Given the description of an element on the screen output the (x, y) to click on. 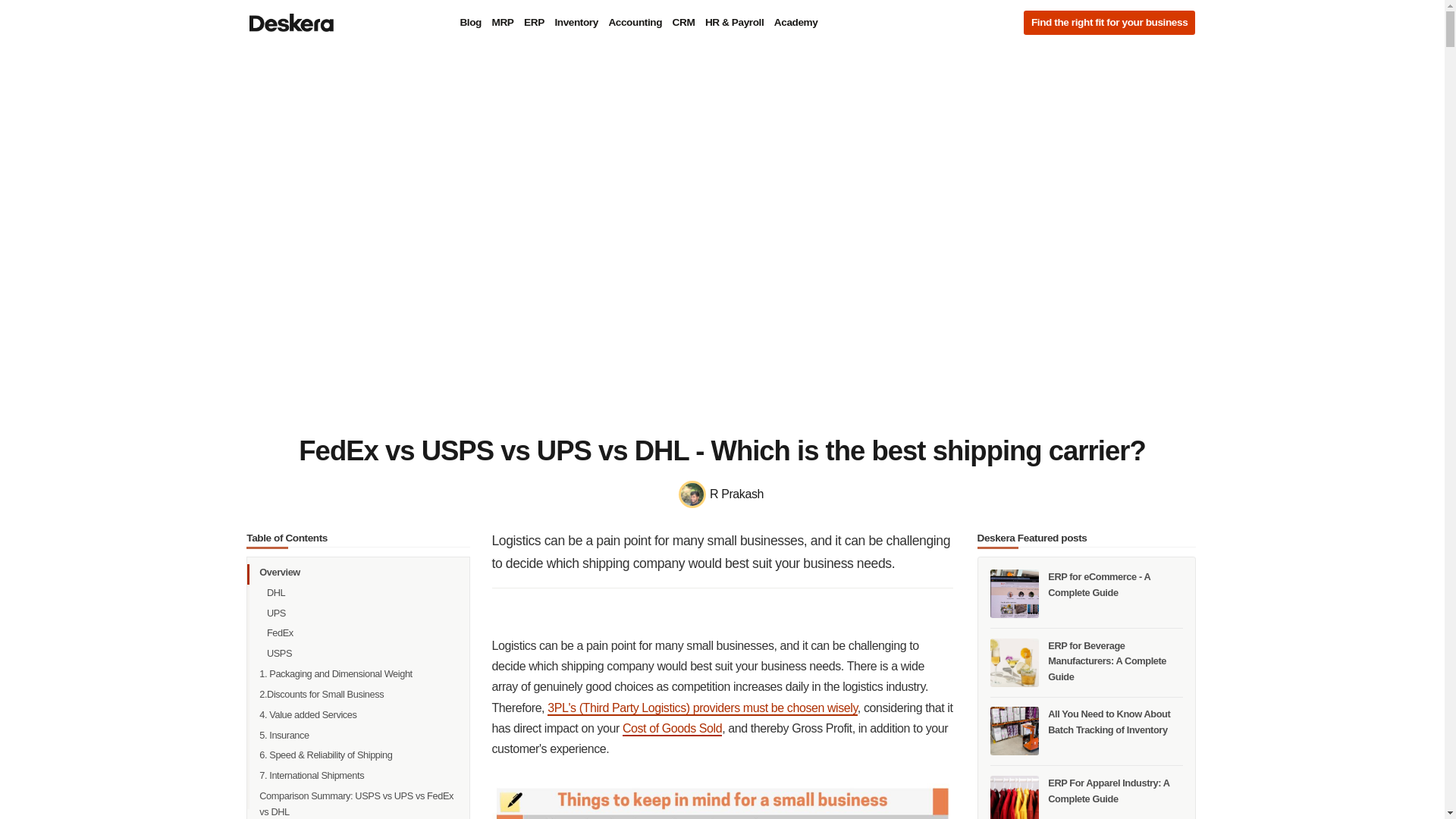
1. Packaging and Dimensional Weight (358, 674)
USPS (362, 653)
FedEx (362, 633)
CRM (683, 22)
Find the right fit for your business (1109, 22)
Accounting (634, 22)
Overview (358, 572)
DHL (362, 592)
Blog (470, 22)
R Prakash (721, 494)
